Given the description of an element on the screen output the (x, y) to click on. 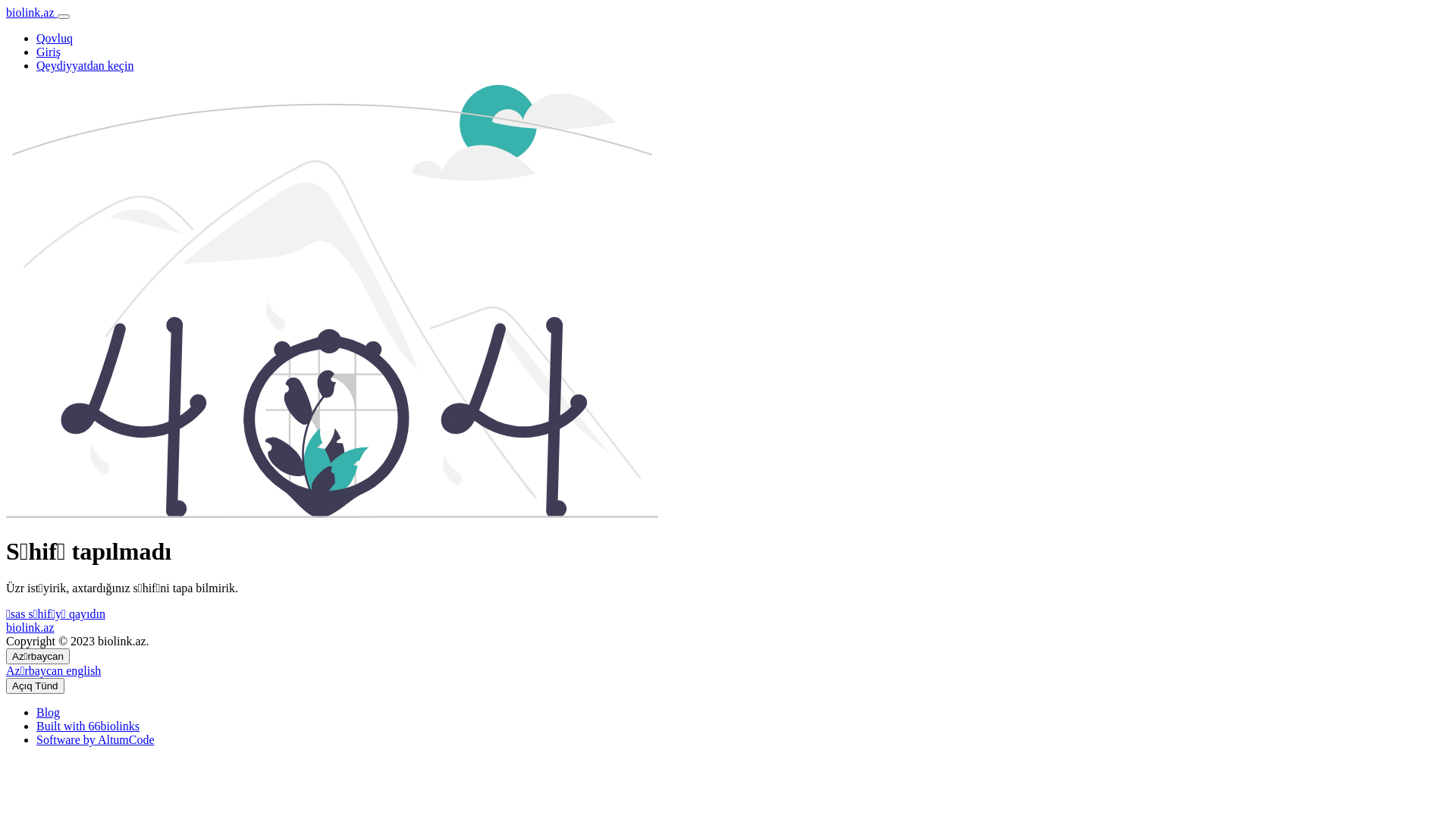
Qovluq Element type: text (54, 37)
Blog Element type: text (47, 712)
biolink.az Element type: text (31, 12)
Software by AltumCode Element type: text (95, 739)
english Element type: text (82, 670)
biolink.az Element type: text (30, 627)
Built with 66biolinks Element type: text (87, 725)
